Given the description of an element on the screen output the (x, y) to click on. 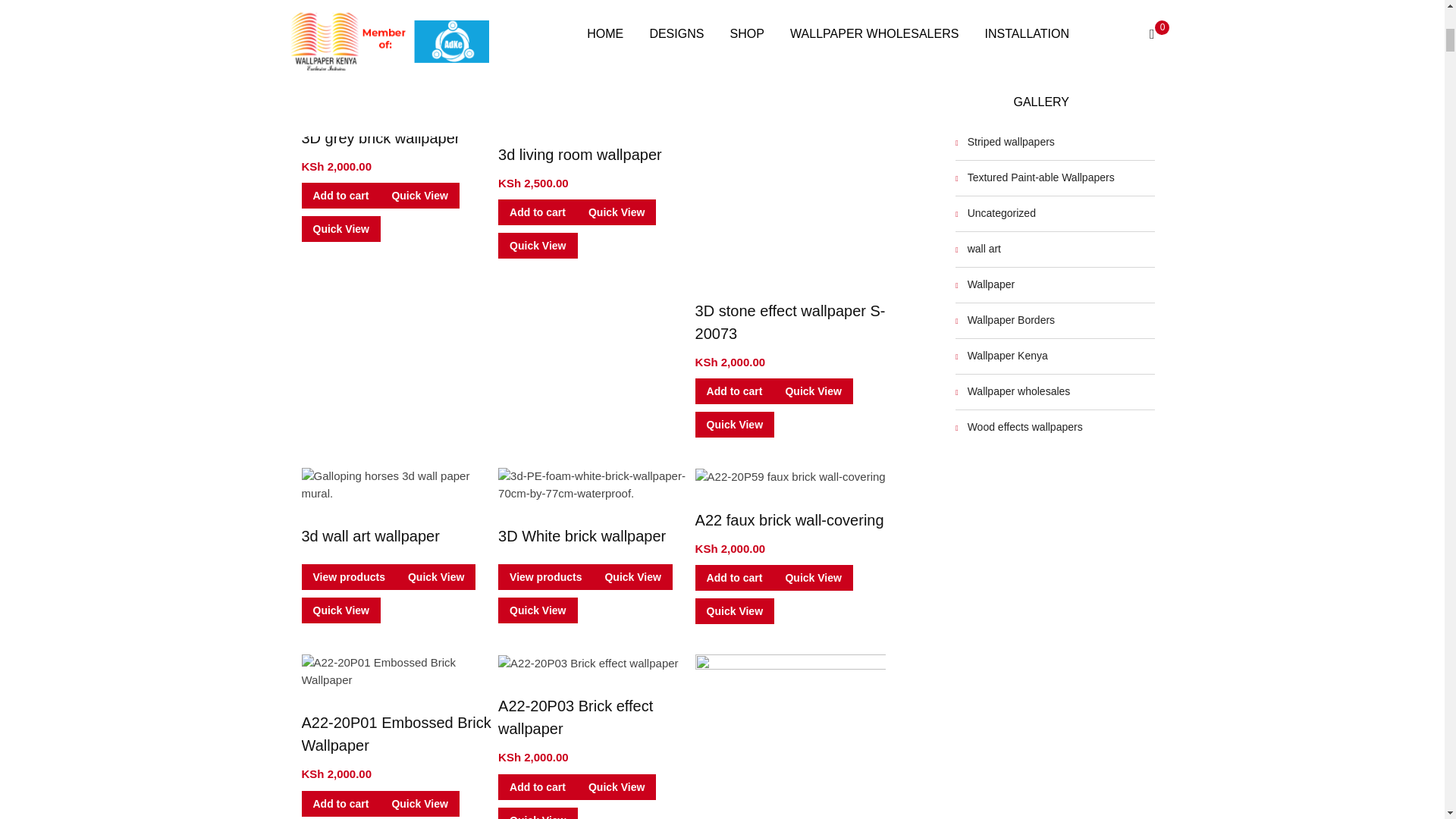
Quick View (616, 11)
Quick View (536, 43)
Add to cart (536, 11)
